Given the description of an element on the screen output the (x, y) to click on. 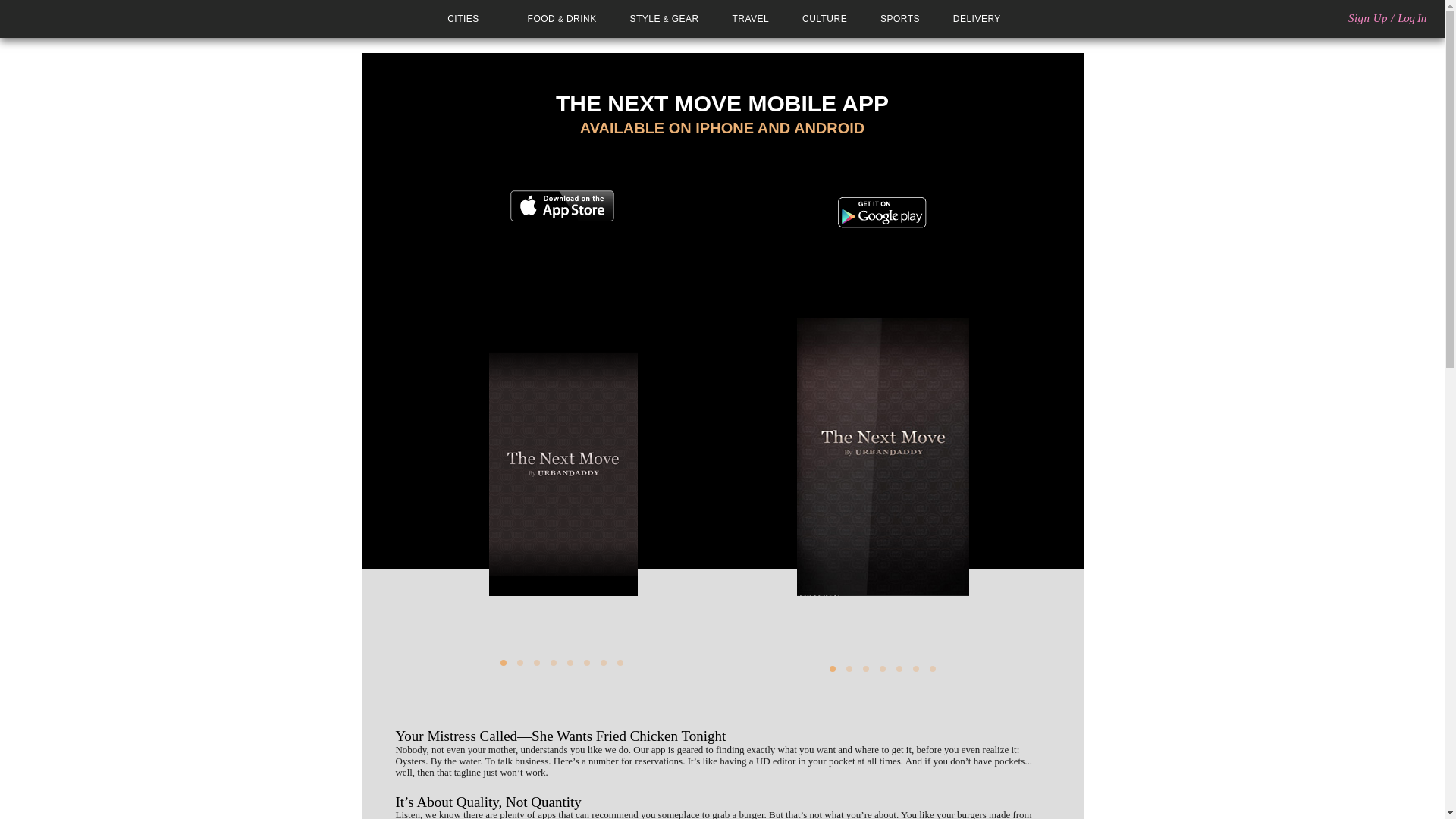
TRAVEL (751, 18)
UrbanDaddy (67, 18)
DELIVERY (977, 18)
Sign Up (1367, 18)
CULTURE (824, 18)
SPORTS (900, 18)
Log In (1411, 18)
